Given the description of an element on the screen output the (x, y) to click on. 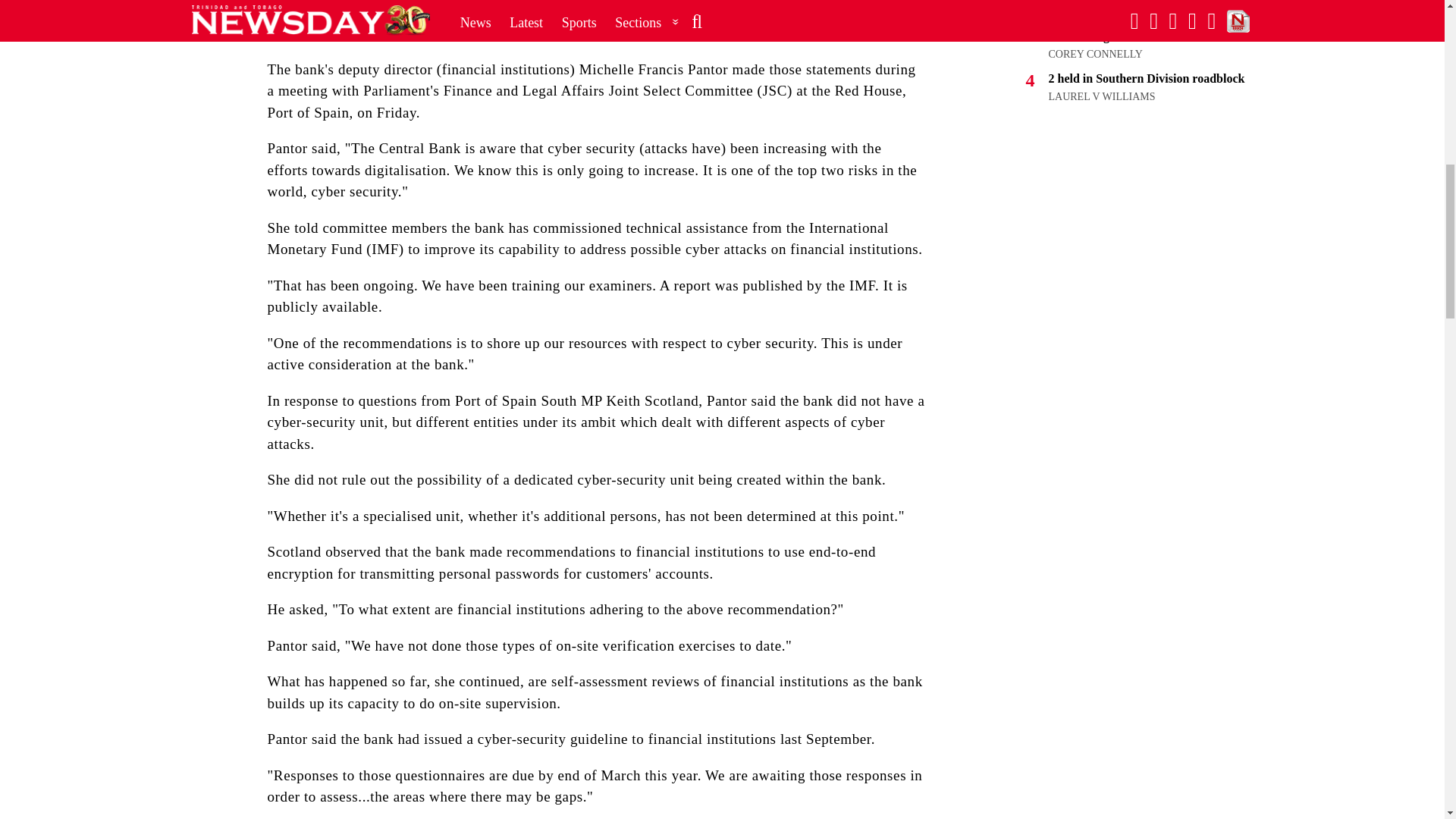
LAUREL V WILLIAMS (1101, 96)
SEAN DOUGLAS (1088, 1)
2 held in Southern Division roadblock (1146, 78)
Duke tells licensing officers to pack up, leave Tobago (1148, 28)
COREY CONNELLY (1094, 53)
